Given the description of an element on the screen output the (x, y) to click on. 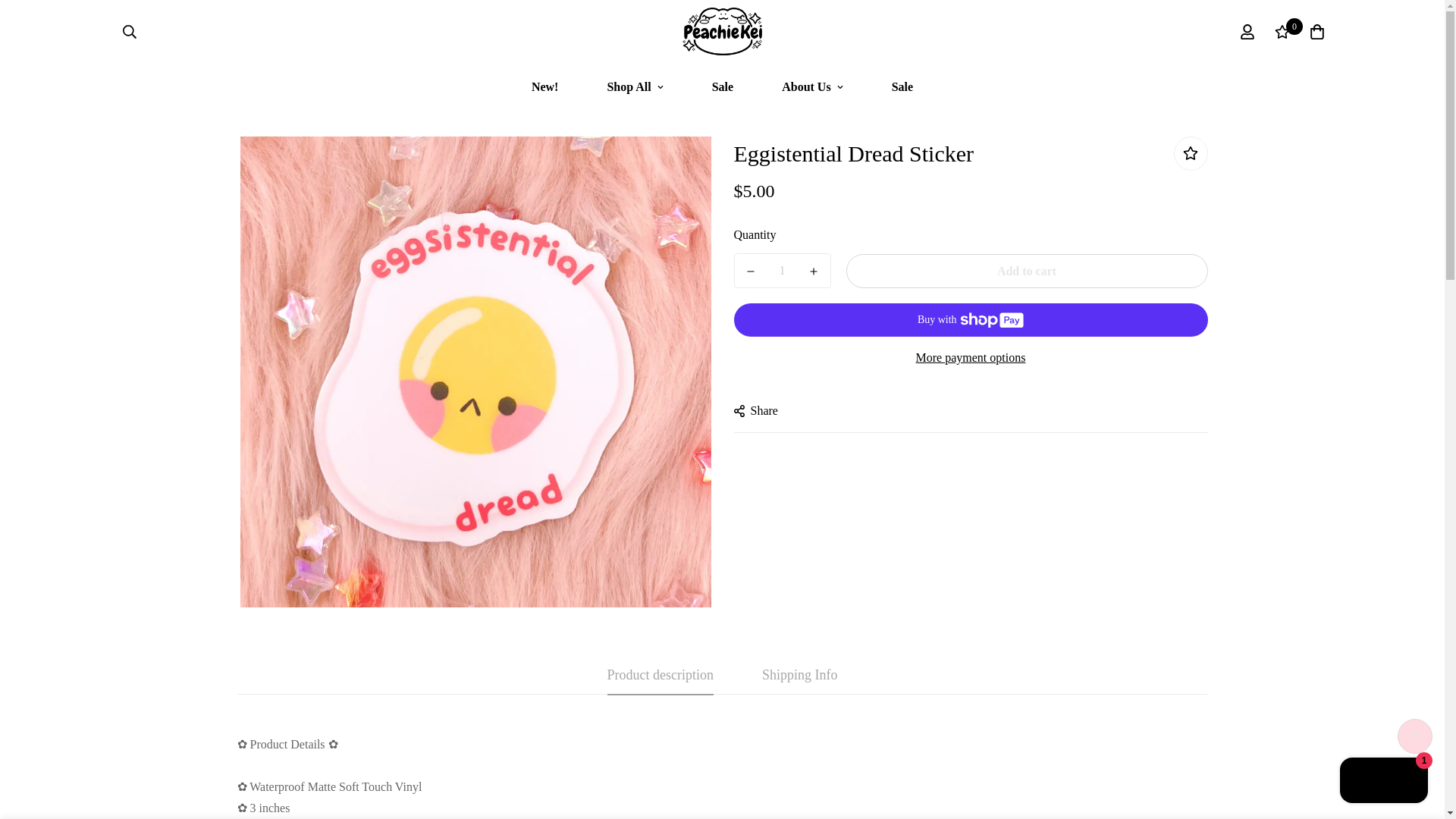
Peachie Kei (721, 31)
Sale (902, 86)
About Us (811, 86)
Sale (722, 86)
1 (782, 270)
Shop All (634, 86)
New! (544, 86)
Shopify online store chat (1383, 781)
